Given the description of an element on the screen output the (x, y) to click on. 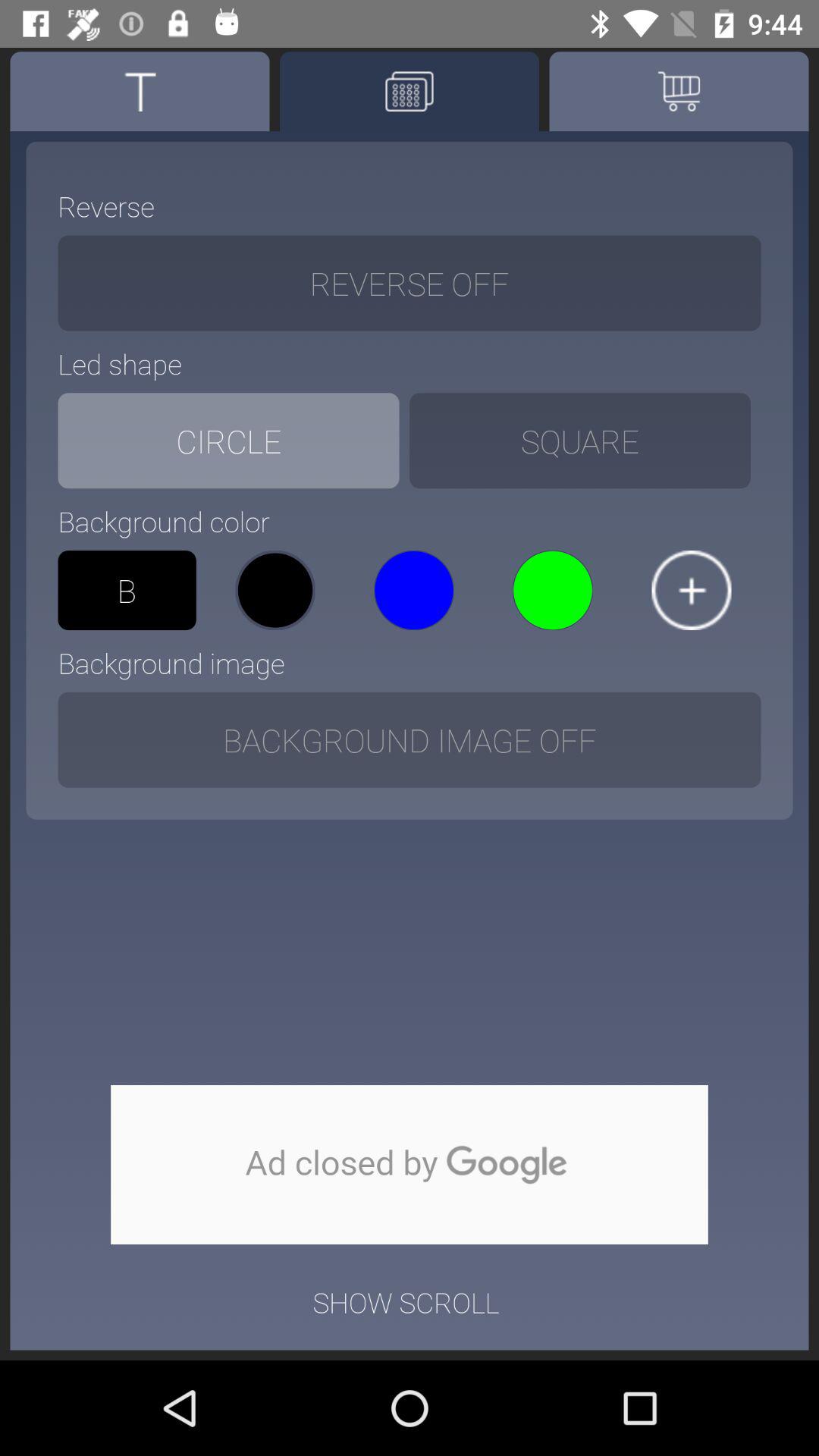
click to the text (139, 91)
